Given the description of an element on the screen output the (x, y) to click on. 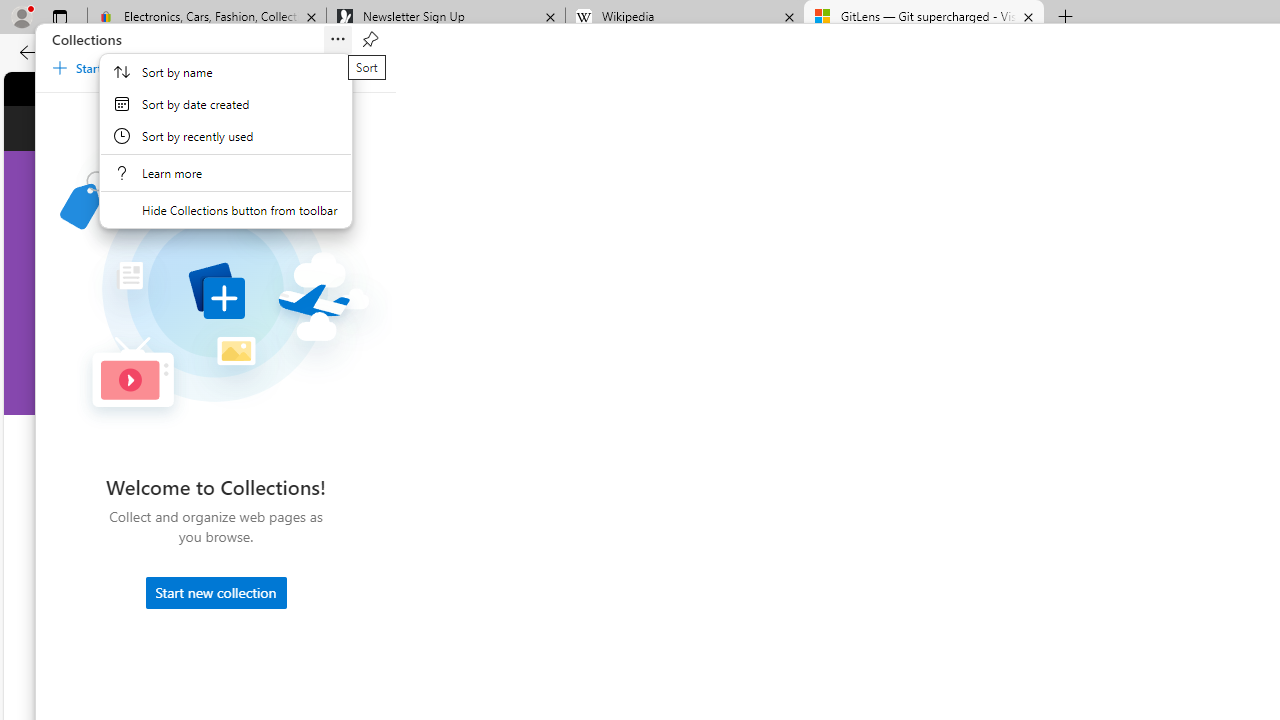
Hide Collections button from toolbar (225, 209)
Context (225, 152)
Sort by date created (225, 103)
Sort (337, 39)
Learn More About Collections (225, 172)
Context (225, 141)
Start new collection (215, 592)
Sort by recently used (225, 135)
Pin Collections (369, 39)
Sort by name (225, 71)
